Given the description of an element on the screen output the (x, y) to click on. 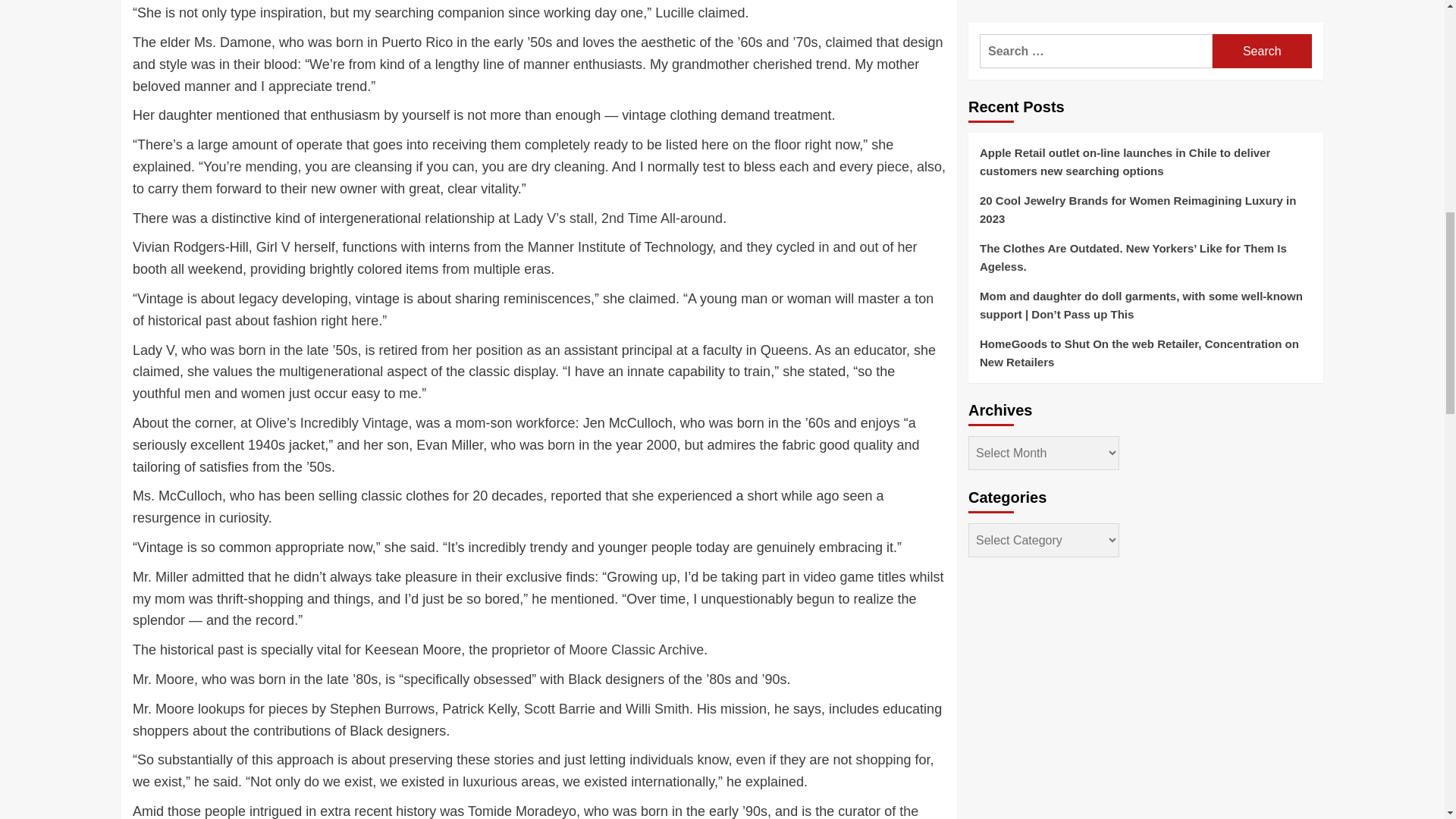
Willi Smith (657, 708)
the Igala NYC (525, 811)
Moore Classic Archive (636, 649)
Scott Barrie (559, 708)
